Given the description of an element on the screen output the (x, y) to click on. 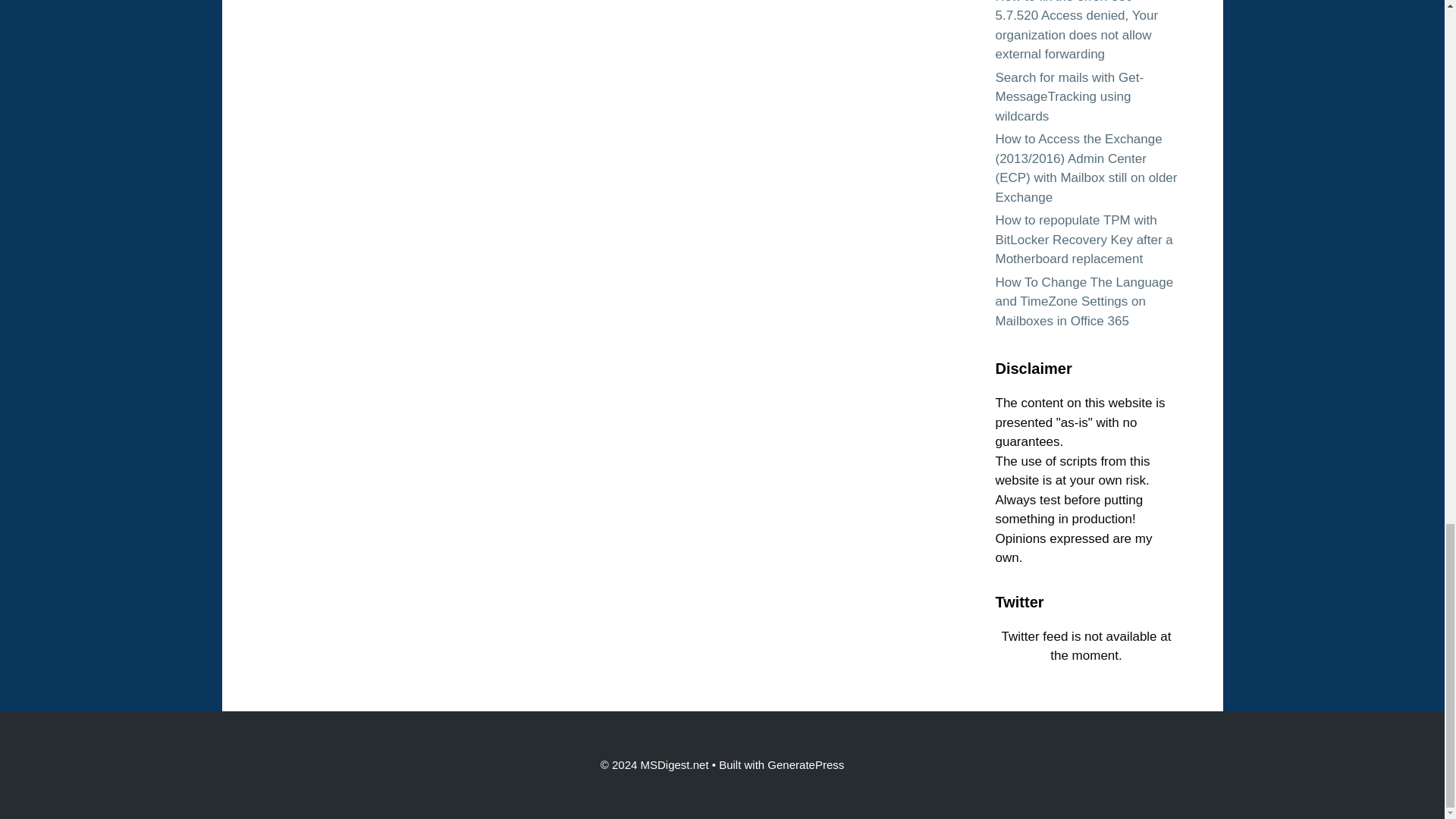
GeneratePress (805, 764)
Search for mails with Get-MessageTracking using wildcards (1068, 96)
